Given the description of an element on the screen output the (x, y) to click on. 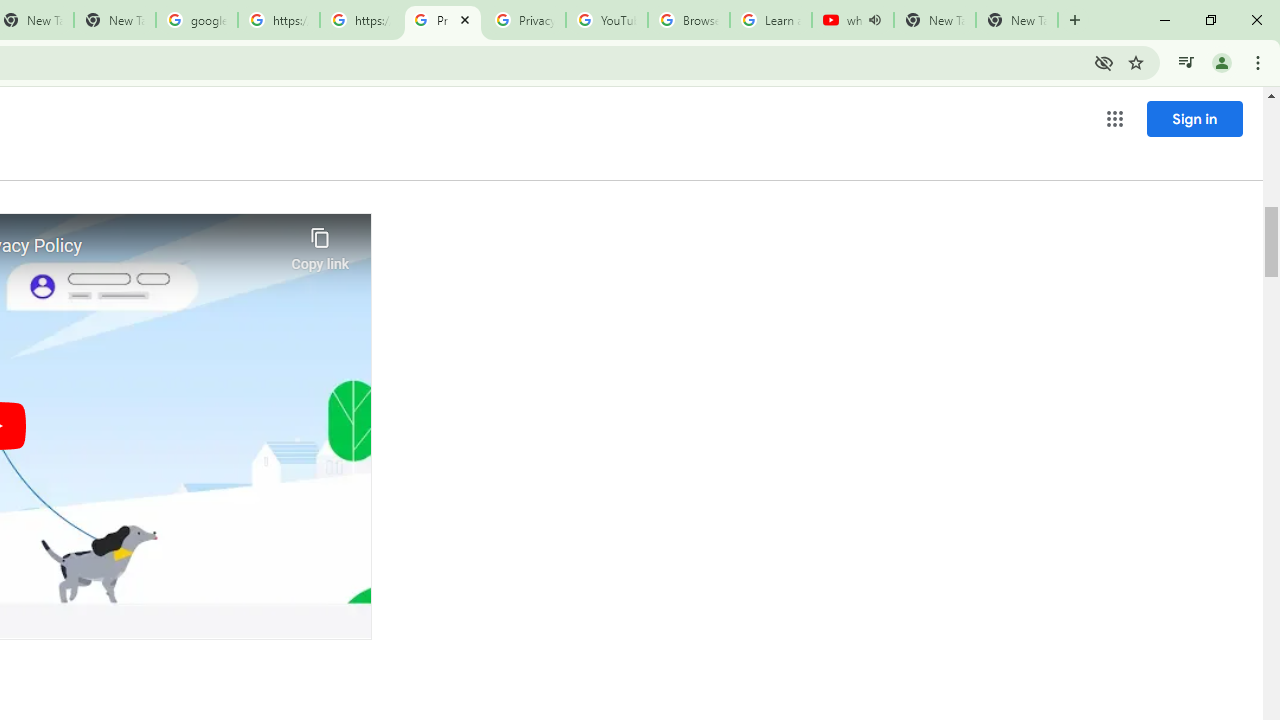
https://scholar.google.com/ (360, 20)
Mute tab (874, 20)
New Tab (1016, 20)
Browse Chrome as a guest - Computer - Google Chrome Help (688, 20)
